Given the description of an element on the screen output the (x, y) to click on. 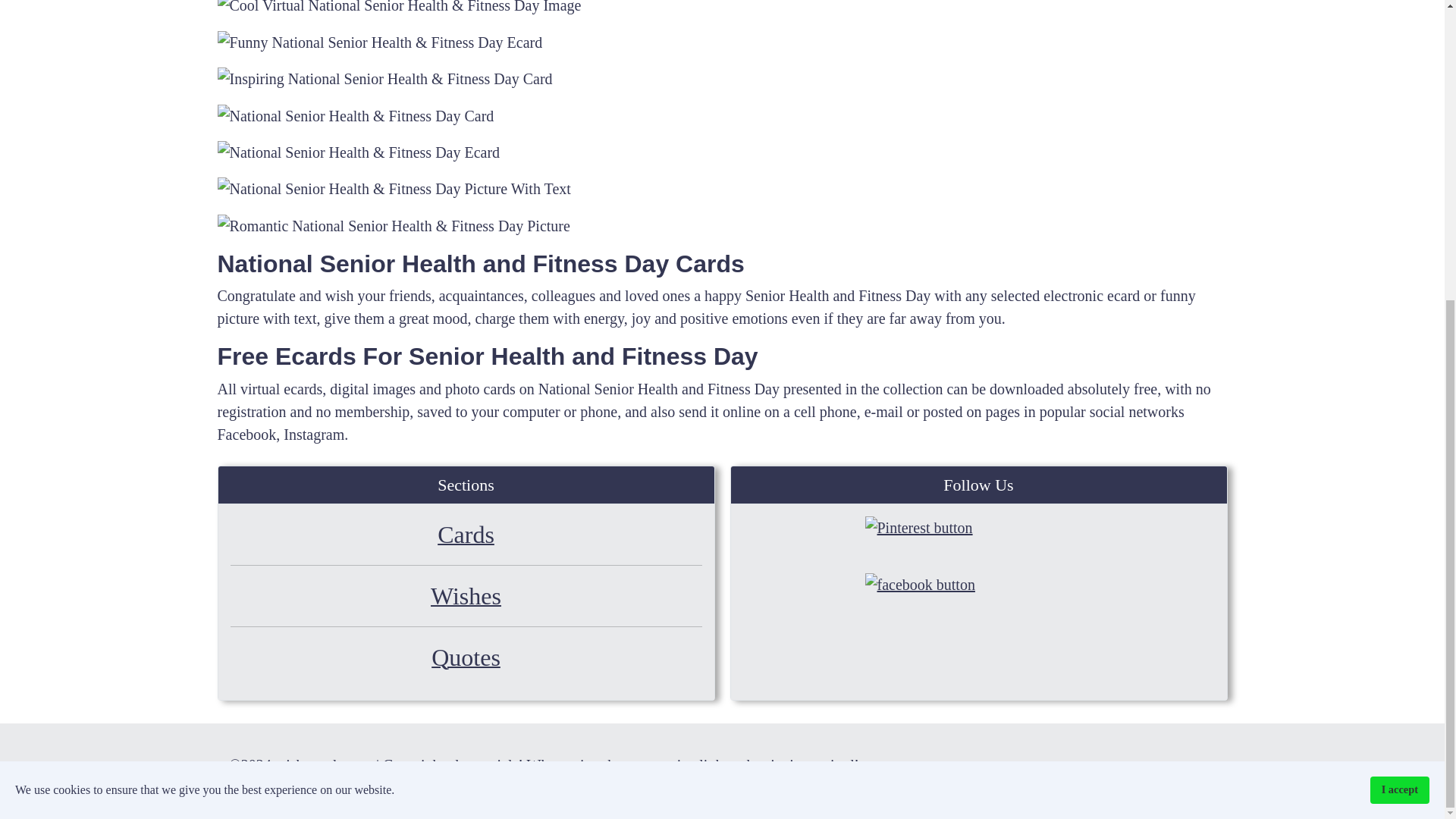
follow us in facebook (978, 601)
Cards (466, 537)
Cards and images (466, 537)
Famous Quotes (465, 660)
Follow us in pinterest (978, 544)
Wishes and Messages (465, 598)
Wishes (465, 598)
I accept (1399, 324)
Quotes (465, 660)
